Given the description of an element on the screen output the (x, y) to click on. 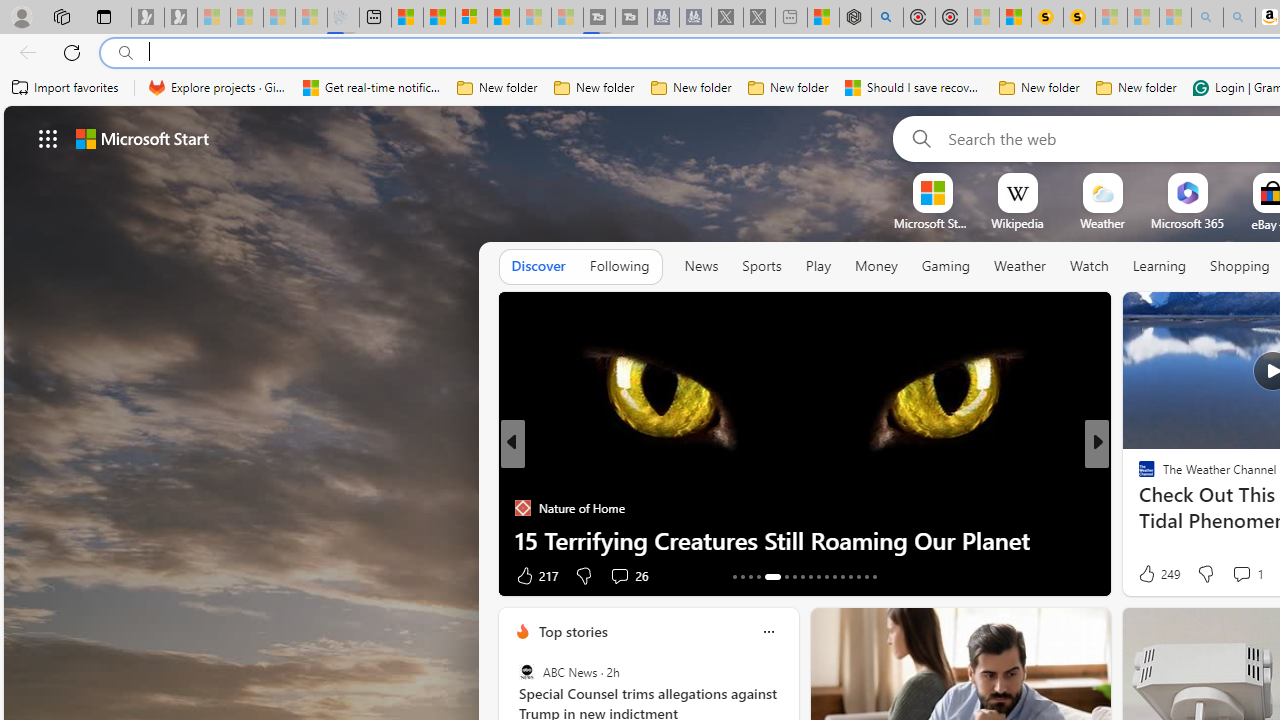
View comments 257 Comment (11, 575)
Bolde Media (1138, 475)
View comments 397 Comment (11, 575)
249 Like (1157, 574)
AutomationID: tab-27 (857, 576)
AutomationID: tab-25 (842, 576)
Search icon (125, 53)
View comments 192 Comment (1234, 575)
